Given the description of an element on the screen output the (x, y) to click on. 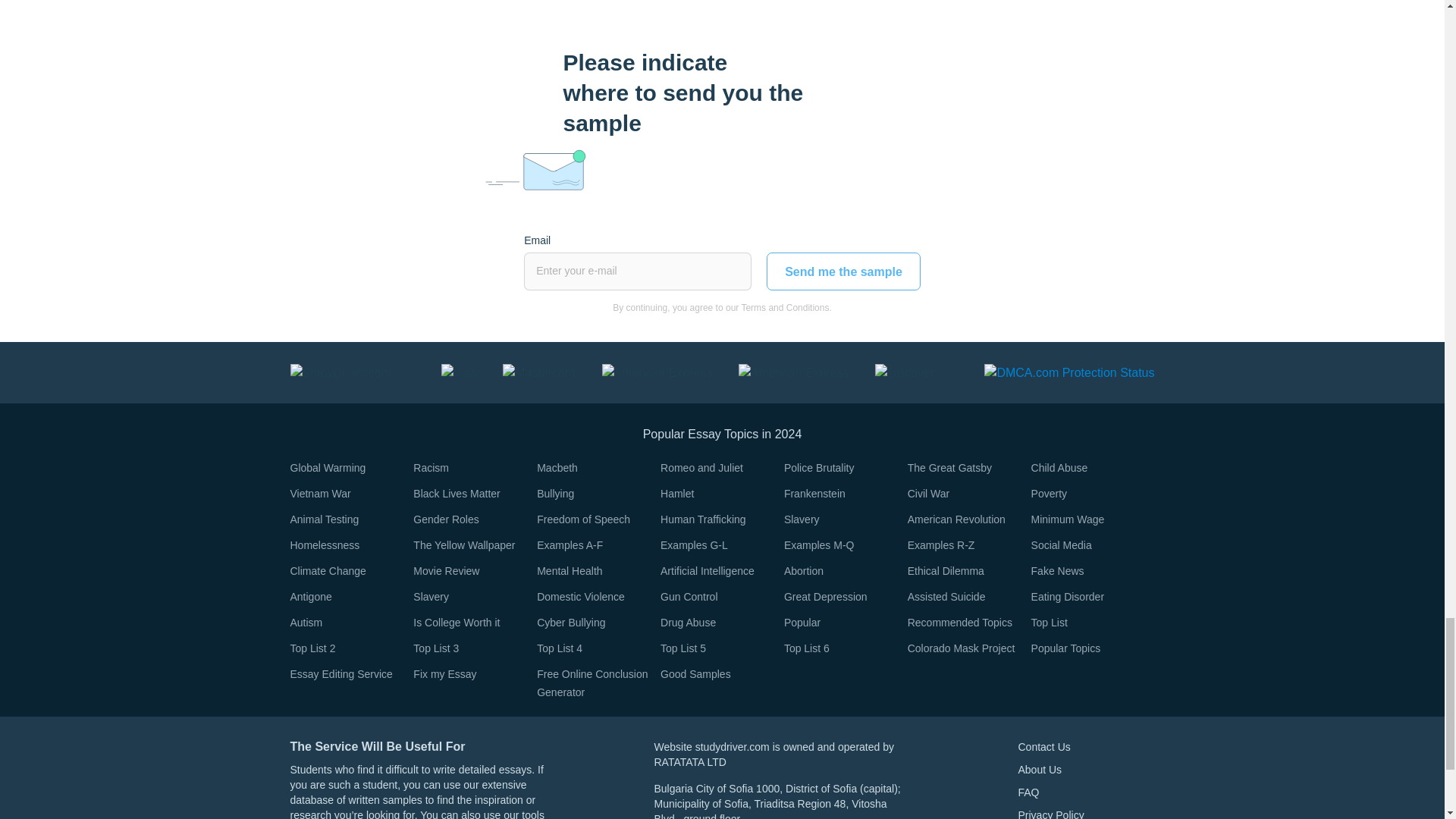
DMCA.com Protection Status (1069, 371)
